Given the description of an element on the screen output the (x, y) to click on. 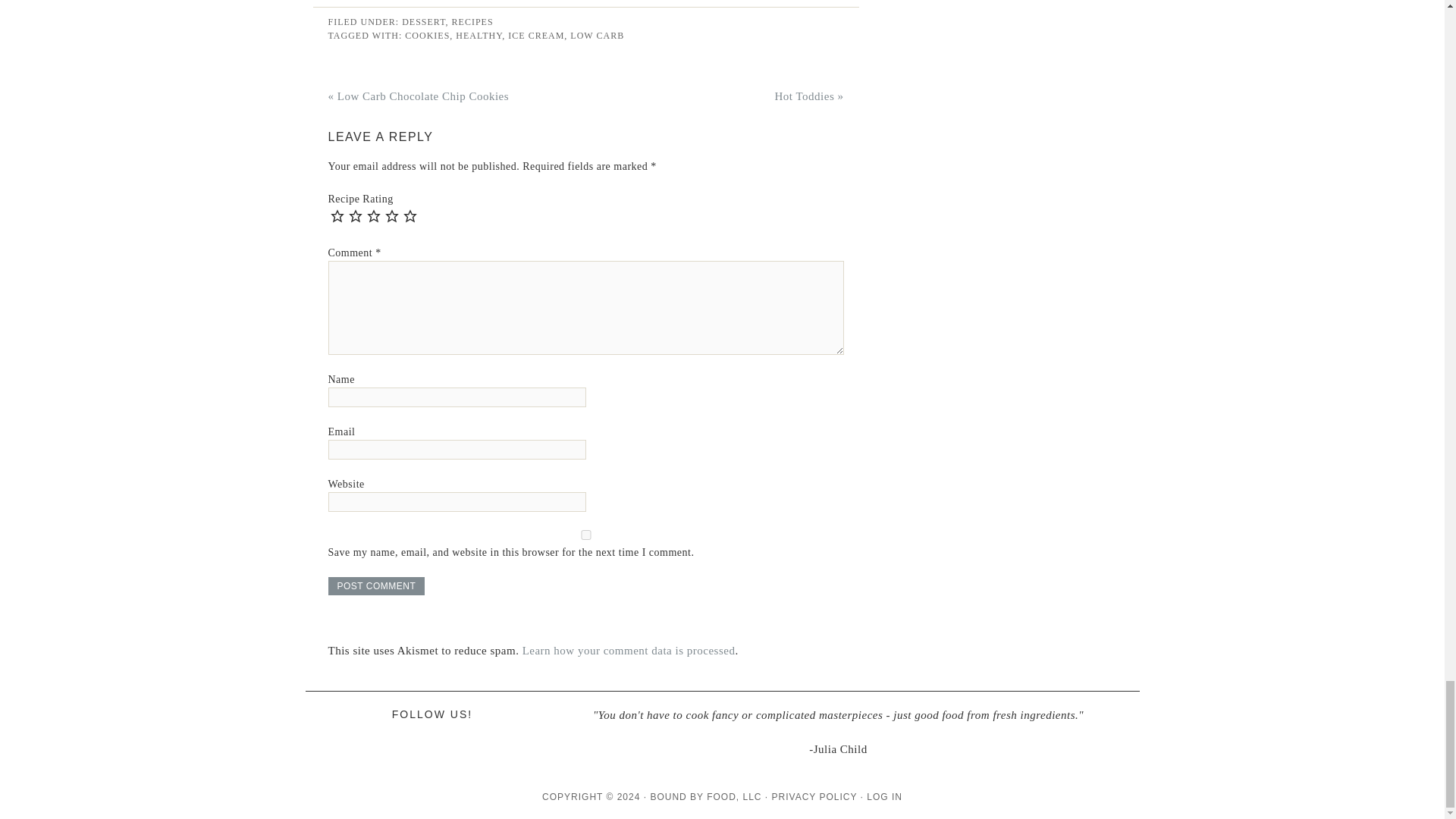
yes (585, 534)
ICE CREAM (536, 35)
DESSERT (423, 21)
Learn how your comment data is processed (628, 650)
COOKIES (426, 35)
LOW CARB (597, 35)
Post Comment (376, 586)
Post Comment (376, 586)
RECIPES (472, 21)
HEALTHY (478, 35)
